Given the description of an element on the screen output the (x, y) to click on. 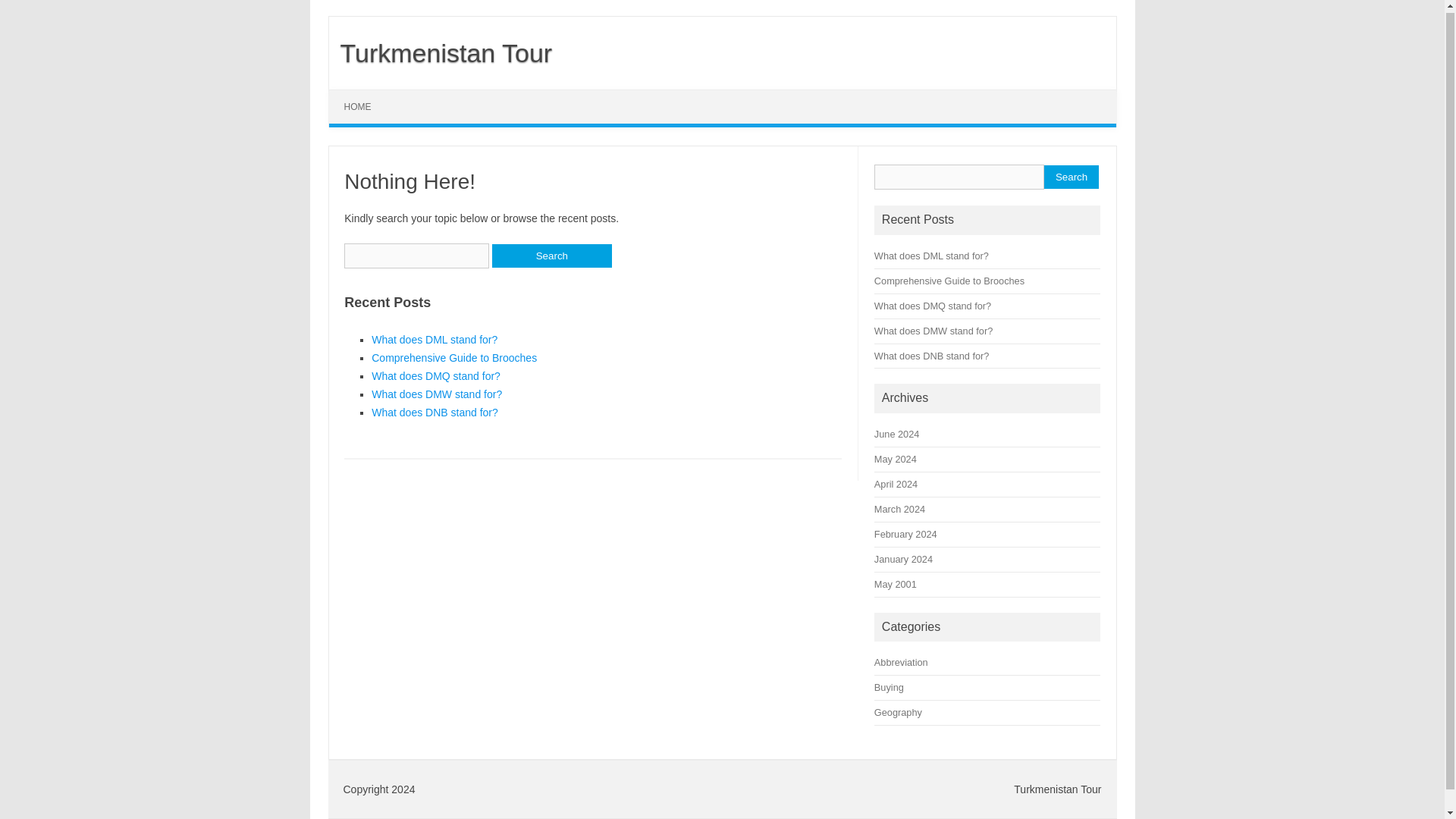
April 2024 (896, 483)
Skip to content (363, 94)
Skip to content (363, 94)
Turkmenistan Tour (441, 52)
February 2024 (906, 533)
What does DML stand for? (434, 339)
Comprehensive Guide to Brooches (950, 280)
Search (1070, 177)
March 2024 (899, 509)
Search (551, 255)
Search (1070, 177)
May 2024 (896, 459)
What does DMQ stand for? (435, 376)
Geography (898, 712)
Abbreviation (901, 662)
